Given the description of an element on the screen output the (x, y) to click on. 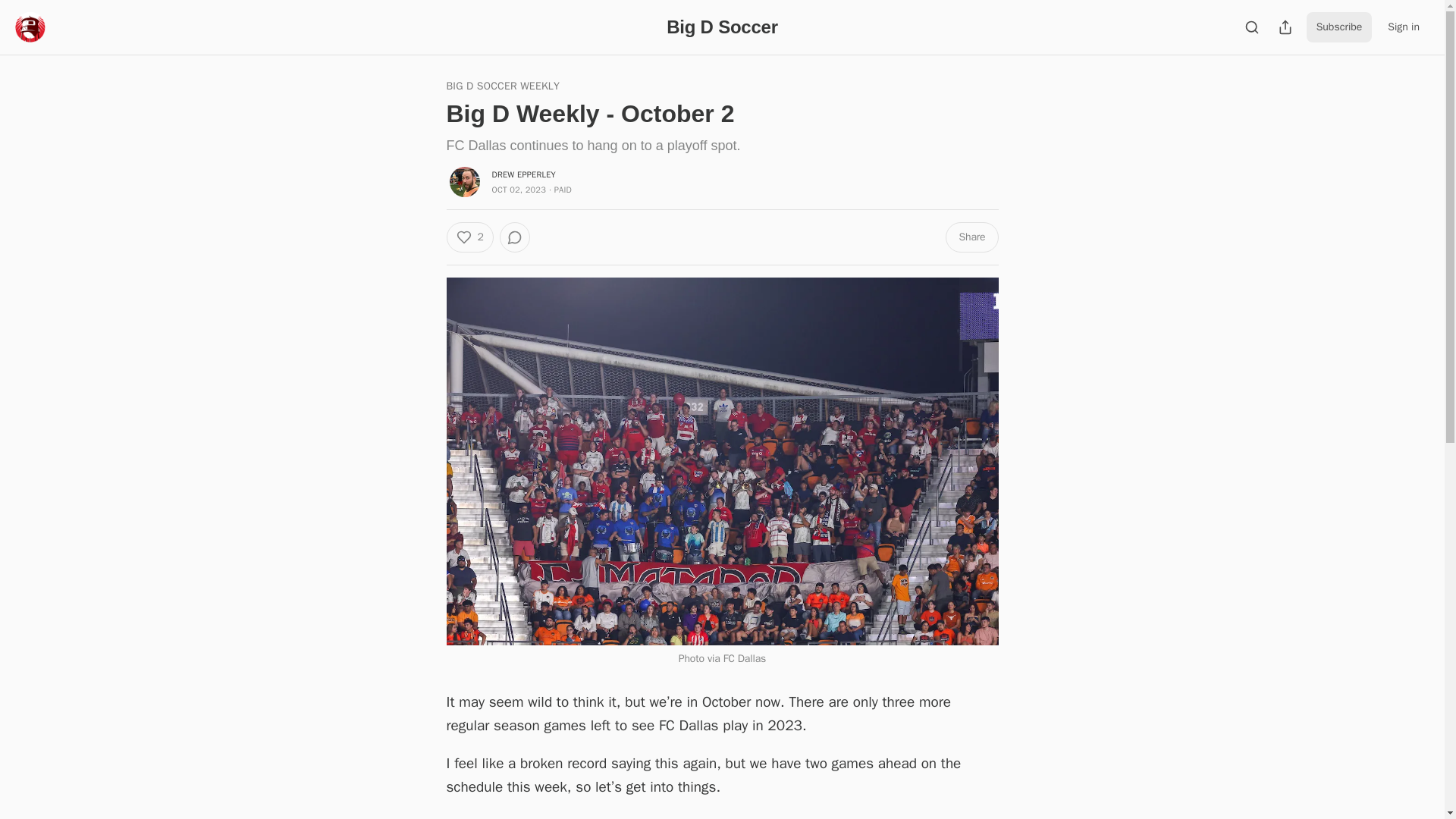
2 (469, 236)
Big D Soccer (721, 26)
BIG D SOCCER WEEKLY (502, 86)
Sign in (1403, 27)
Share (970, 236)
DREW EPPERLEY (523, 173)
Subscribe (1339, 27)
